Given the description of an element on the screen output the (x, y) to click on. 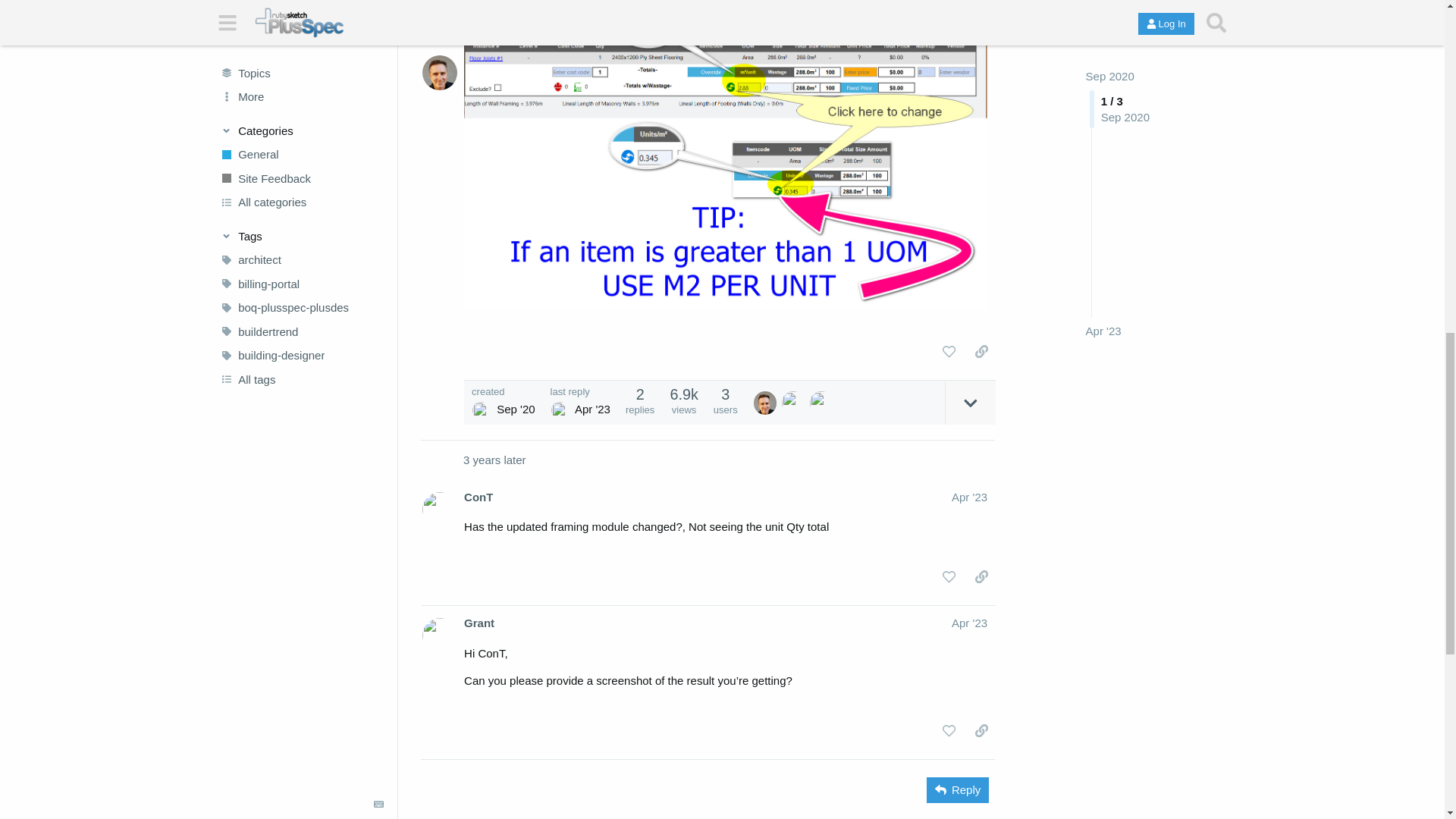
last reply (580, 391)
